Given the description of an element on the screen output the (x, y) to click on. 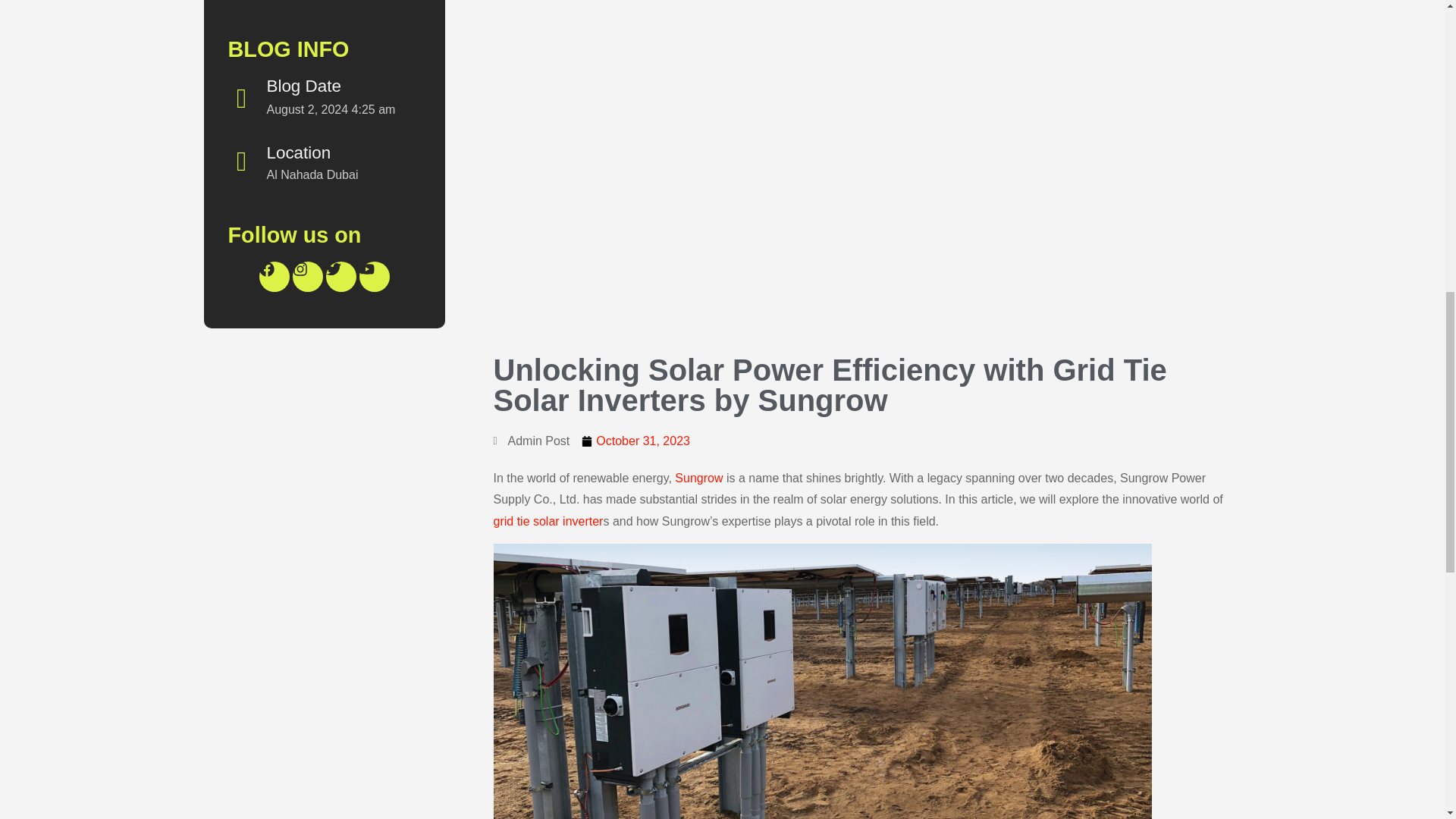
grid tie solar inverter (547, 521)
Sungrow (698, 477)
October 31, 2023 (635, 441)
